Given the description of an element on the screen output the (x, y) to click on. 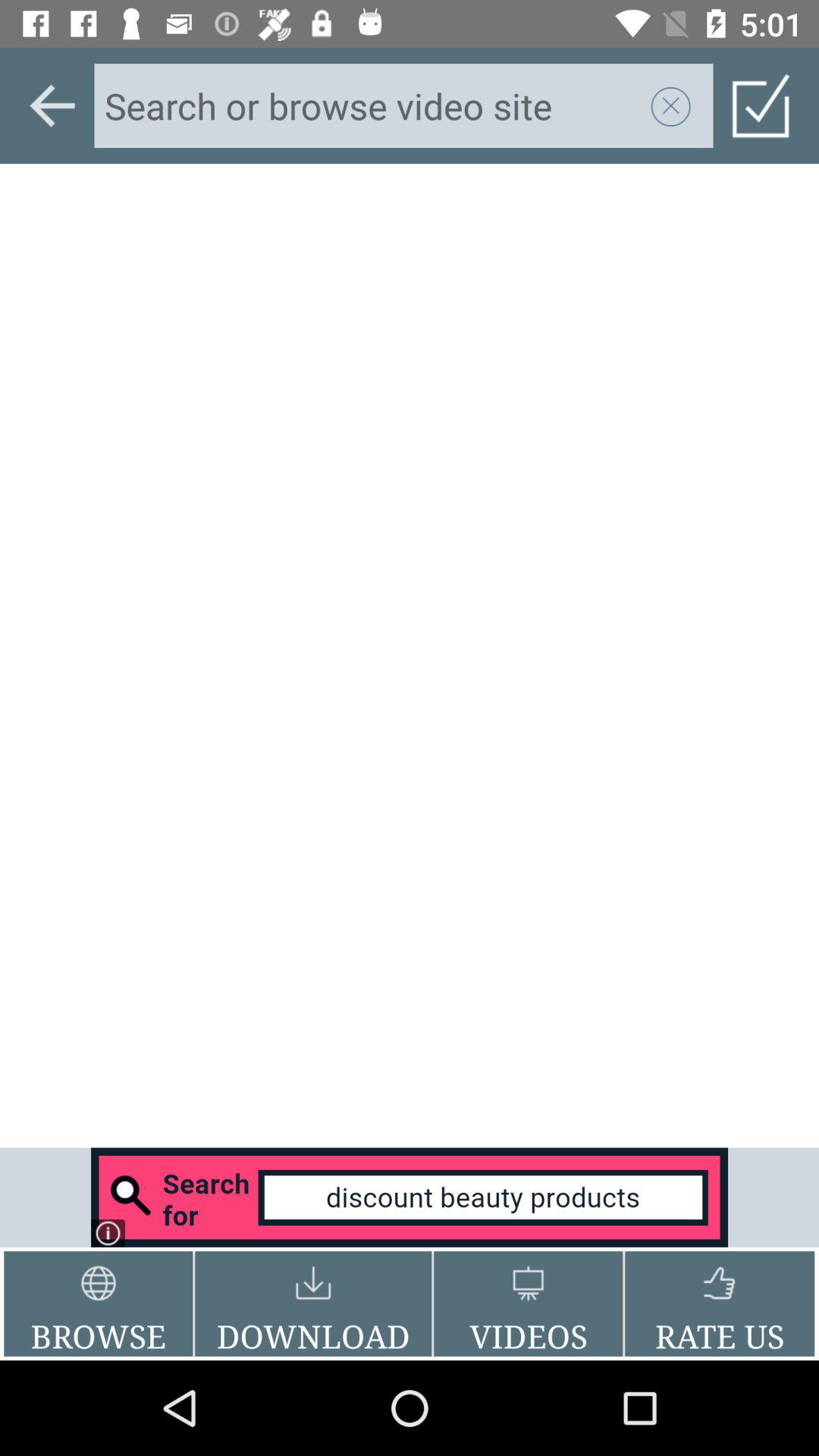
clear search bar (670, 105)
